Given the description of an element on the screen output the (x, y) to click on. 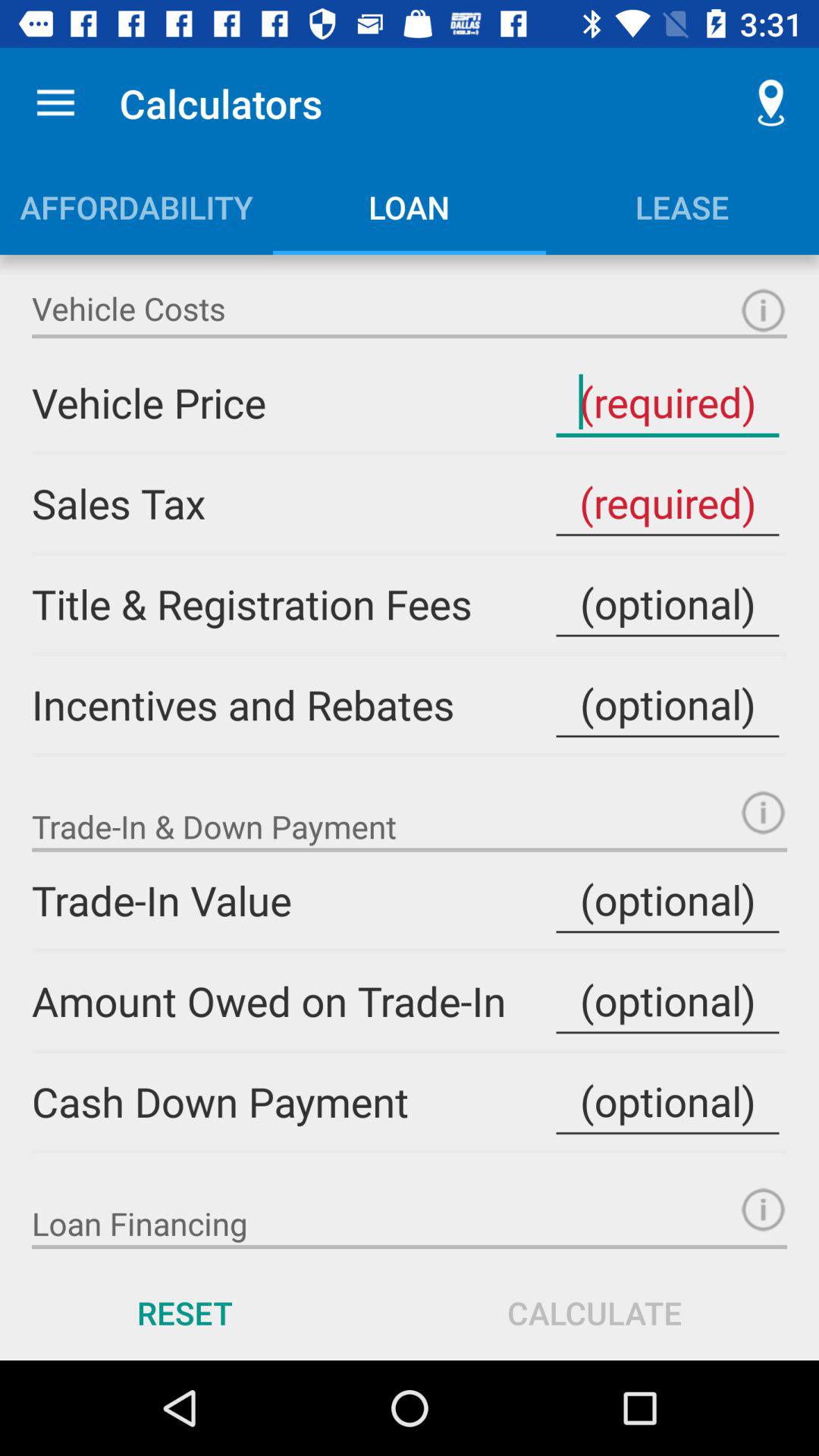
cash down payment (667, 1101)
